Given the description of an element on the screen output the (x, y) to click on. 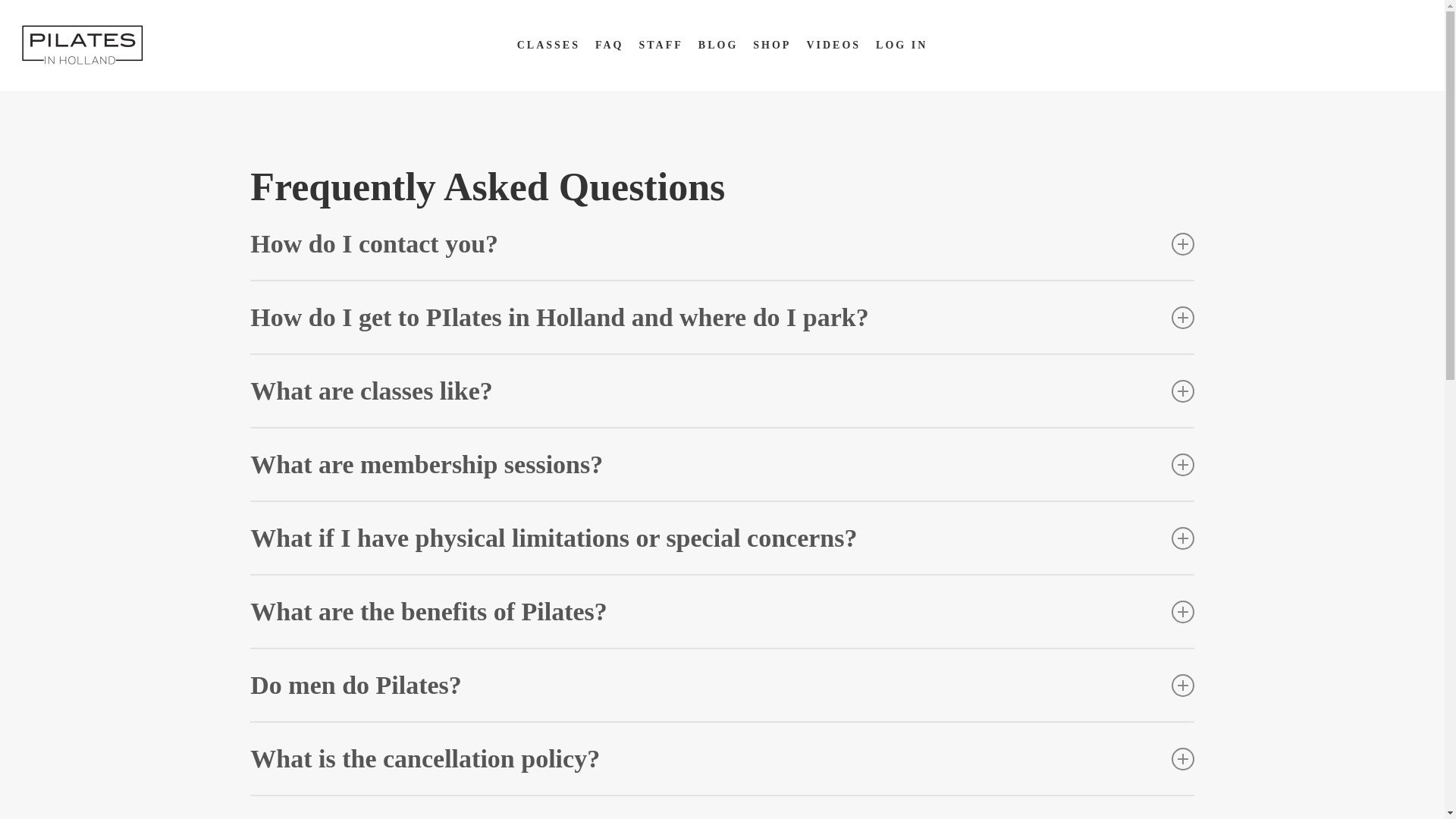
What are classes like? (721, 390)
How do I contact you? (721, 244)
Do men do Pilates? (721, 685)
What if I'm sick? (721, 807)
SHOP (771, 45)
How do I get to PIlates in Holland and where do I park? (721, 316)
What if I have physical limitations or special concerns? (721, 538)
What are the benefits of Pilates? (721, 611)
LOG IN (901, 45)
FAQ (609, 45)
BLOG (718, 45)
STAFF (660, 45)
What are membership sessions? (721, 464)
VIDEOS (833, 45)
CLASSES (547, 45)
